Given the description of an element on the screen output the (x, y) to click on. 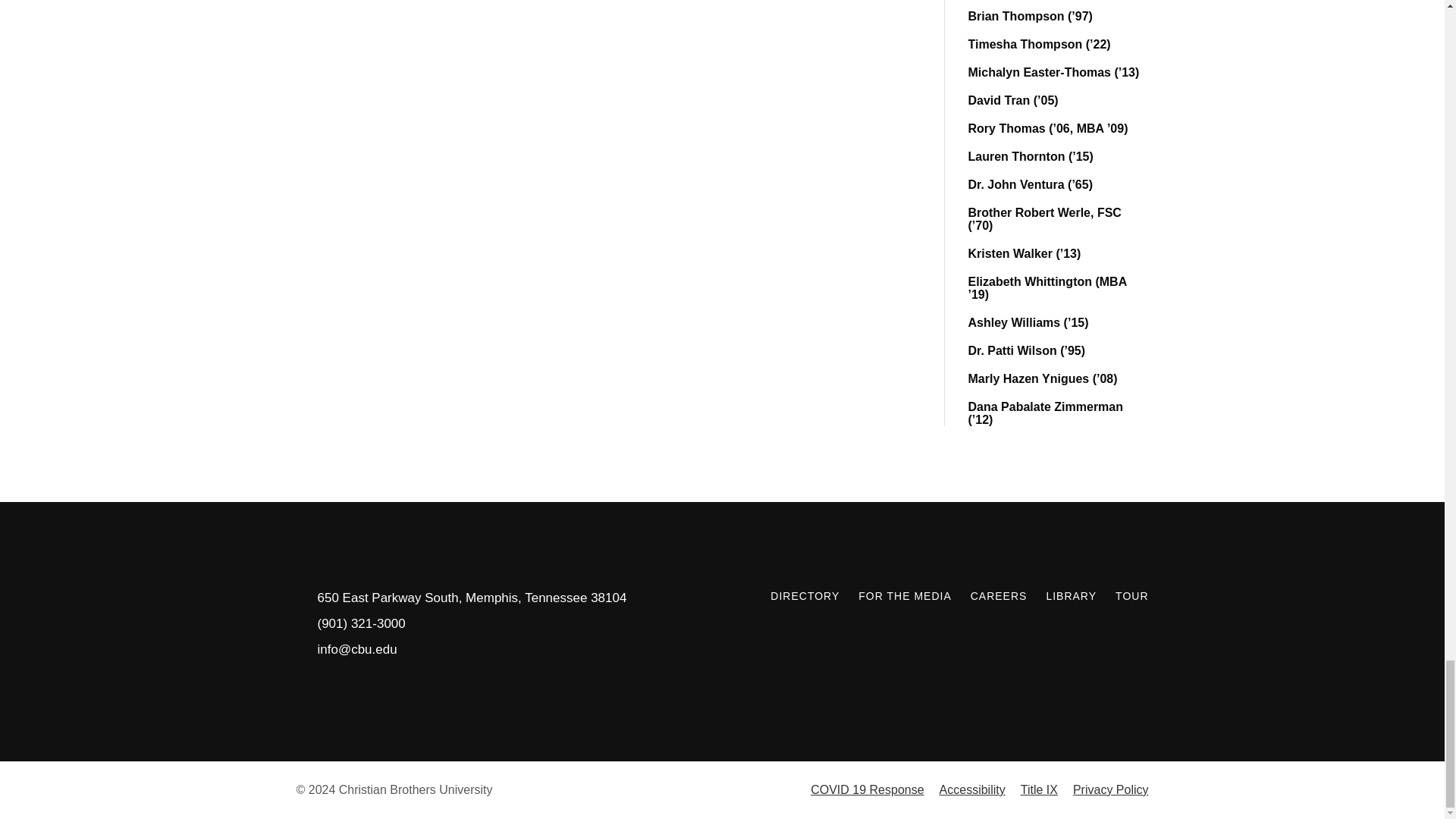
CBU on Facebook (1064, 630)
CBU on Twitter (1027, 630)
CBU on Instagram (1102, 630)
CBU on YouTube (1138, 630)
